Given the description of an element on the screen output the (x, y) to click on. 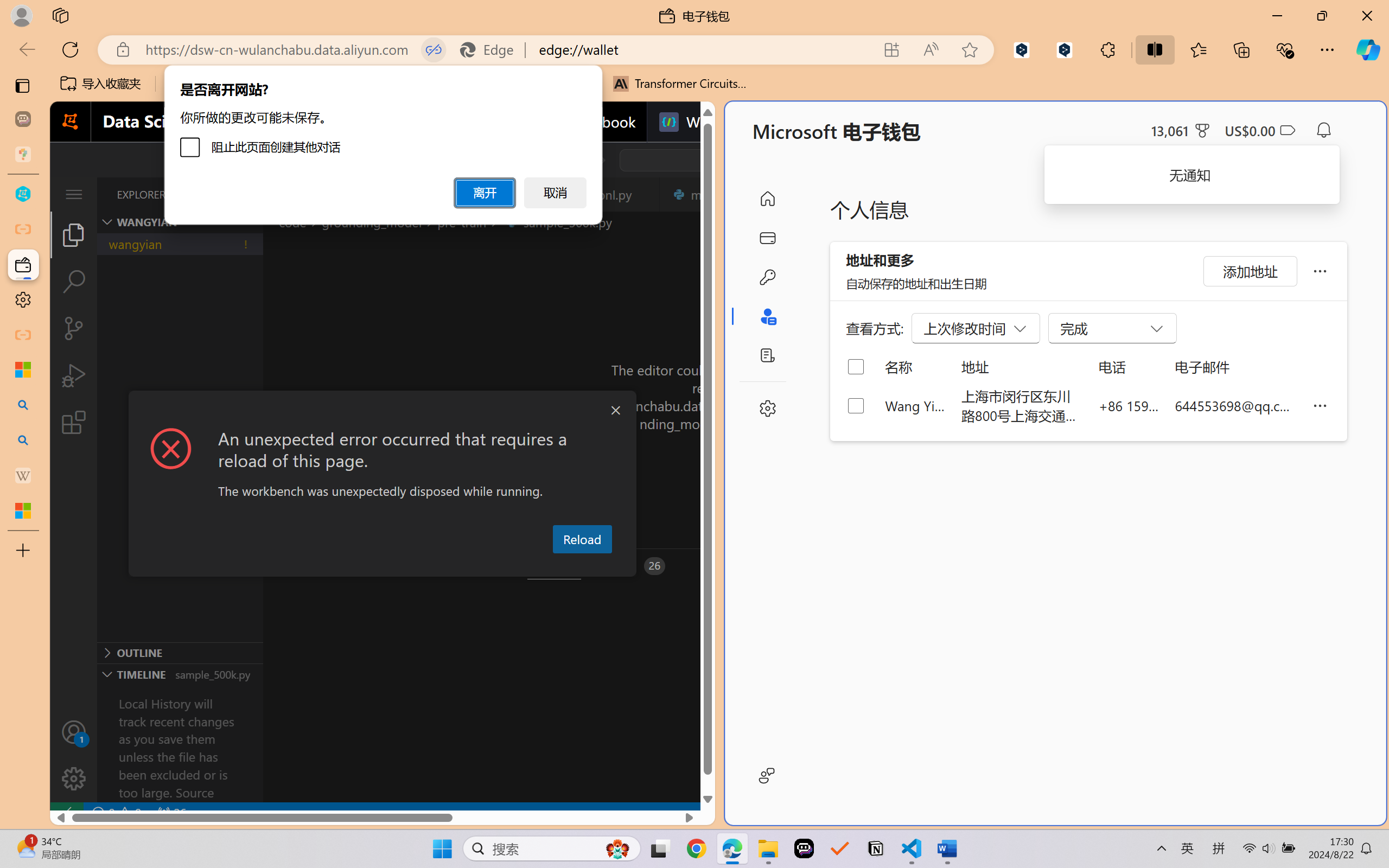
Terminal (Ctrl+`) (553, 565)
Run and Debug (Ctrl+Shift+D) (73, 375)
Explorer (Ctrl+Shift+E) (73, 234)
644553698@qq.com (1235, 405)
